Given the description of an element on the screen output the (x, y) to click on. 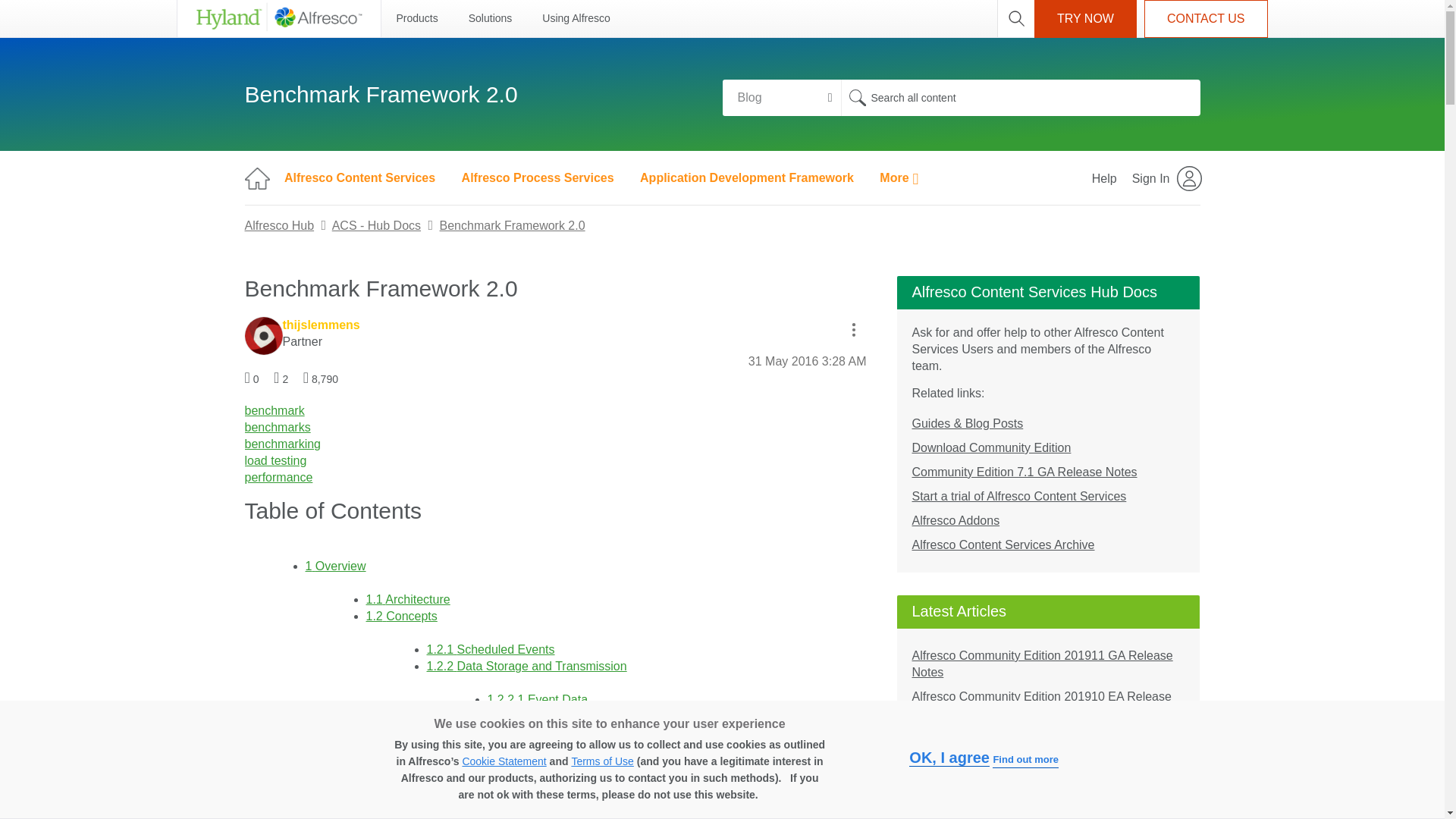
Search (856, 97)
Alfresco Process Services (537, 177)
Search (1019, 97)
Posted on (807, 361)
Solutions (489, 18)
thijslemmens (263, 335)
Search Granularity (781, 97)
Alfresco (278, 18)
CONTACT US (1206, 18)
Search (856, 97)
